Given the description of an element on the screen output the (x, y) to click on. 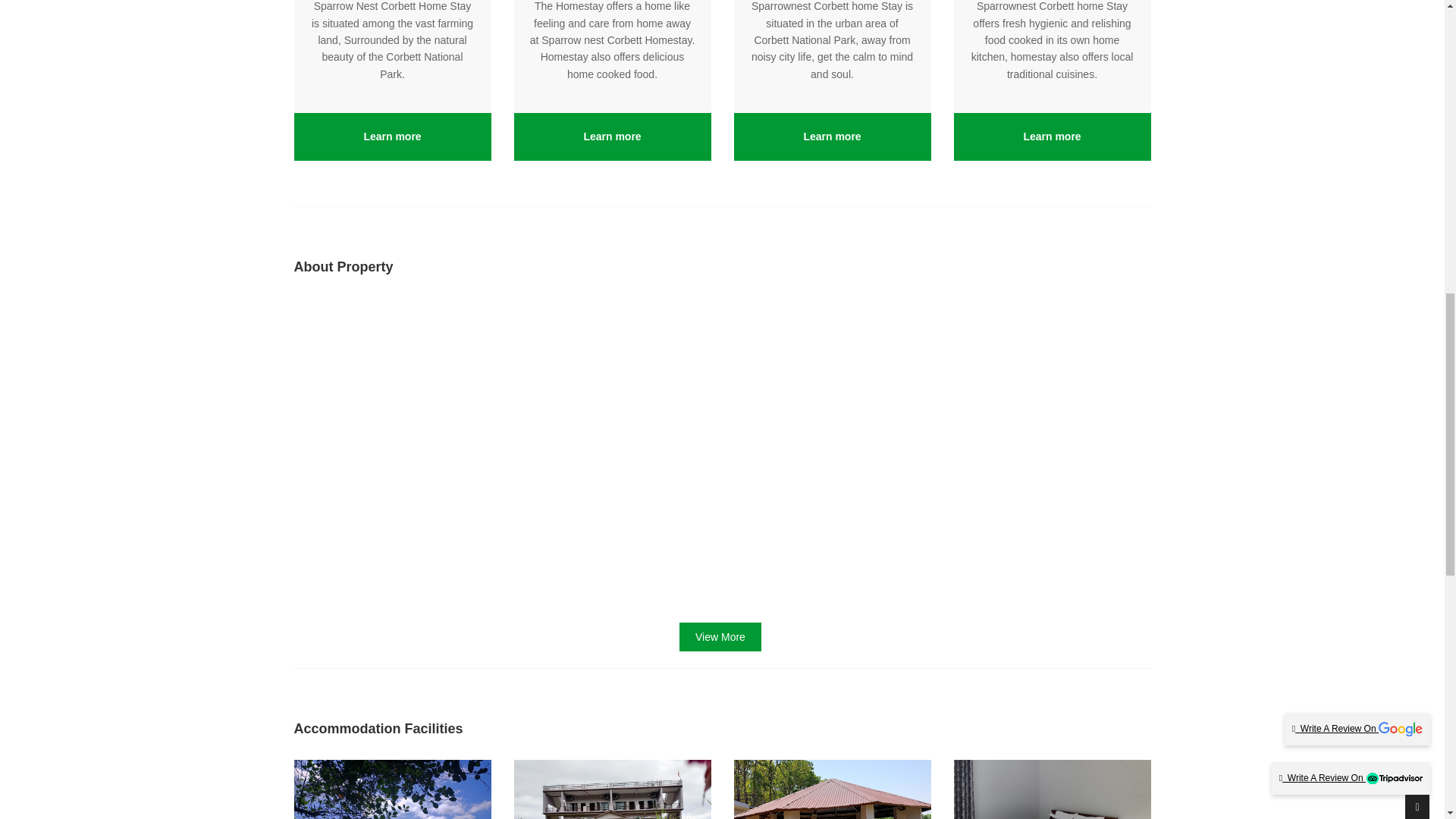
YouTube video player (502, 448)
View More (720, 636)
Learn more (611, 136)
Learn more (391, 136)
YouTube video player (942, 448)
Learn more (1051, 136)
Learn more (831, 136)
